Given the description of an element on the screen output the (x, y) to click on. 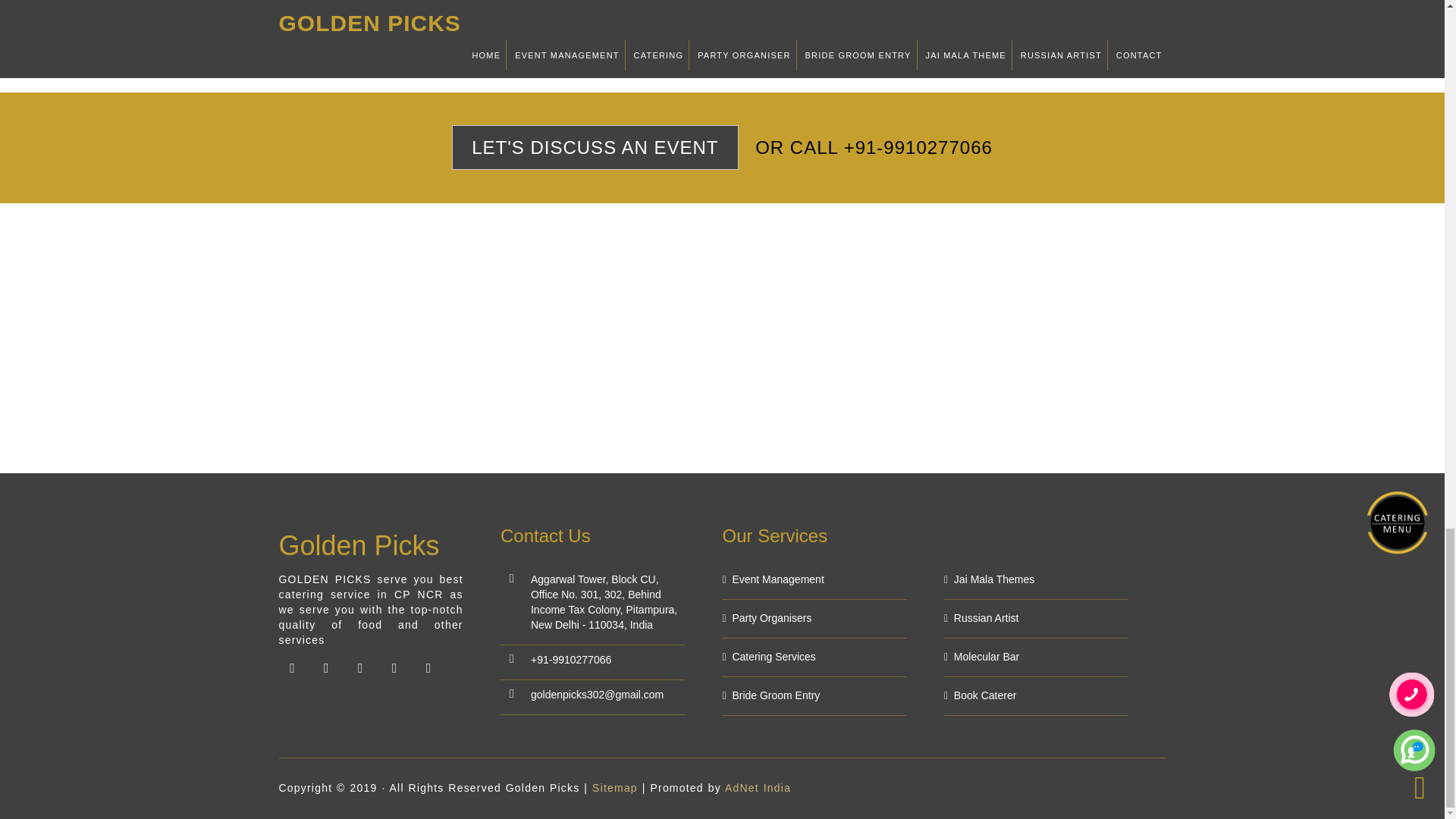
Linkedin (393, 667)
Locate us on Map (428, 667)
Instagram (360, 667)
Facebook (292, 667)
Youtube (326, 667)
